Given the description of an element on the screen output the (x, y) to click on. 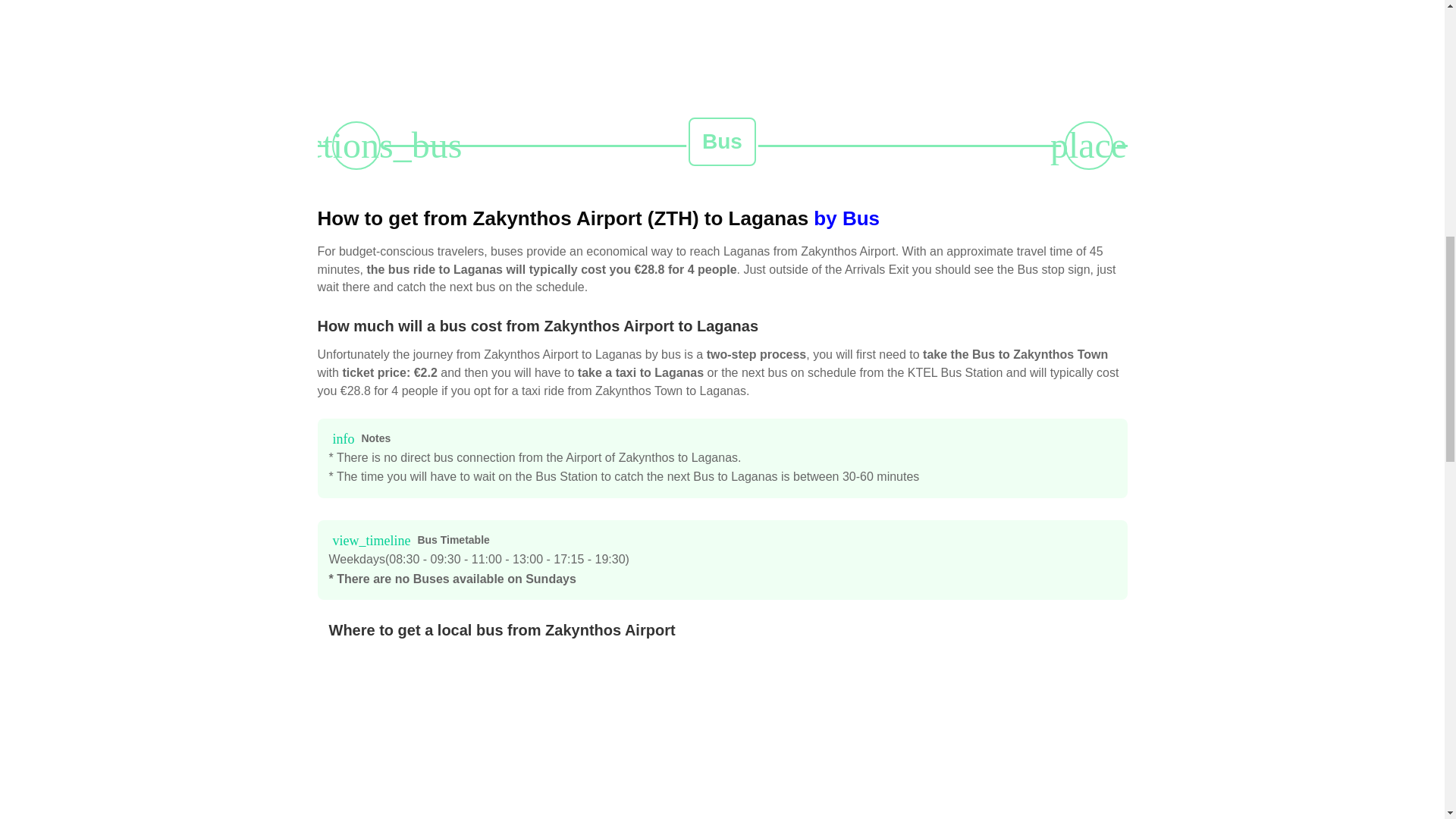
ZTH Info map (544, 734)
ZTH Info map (544, 33)
